Given the description of an element on the screen output the (x, y) to click on. 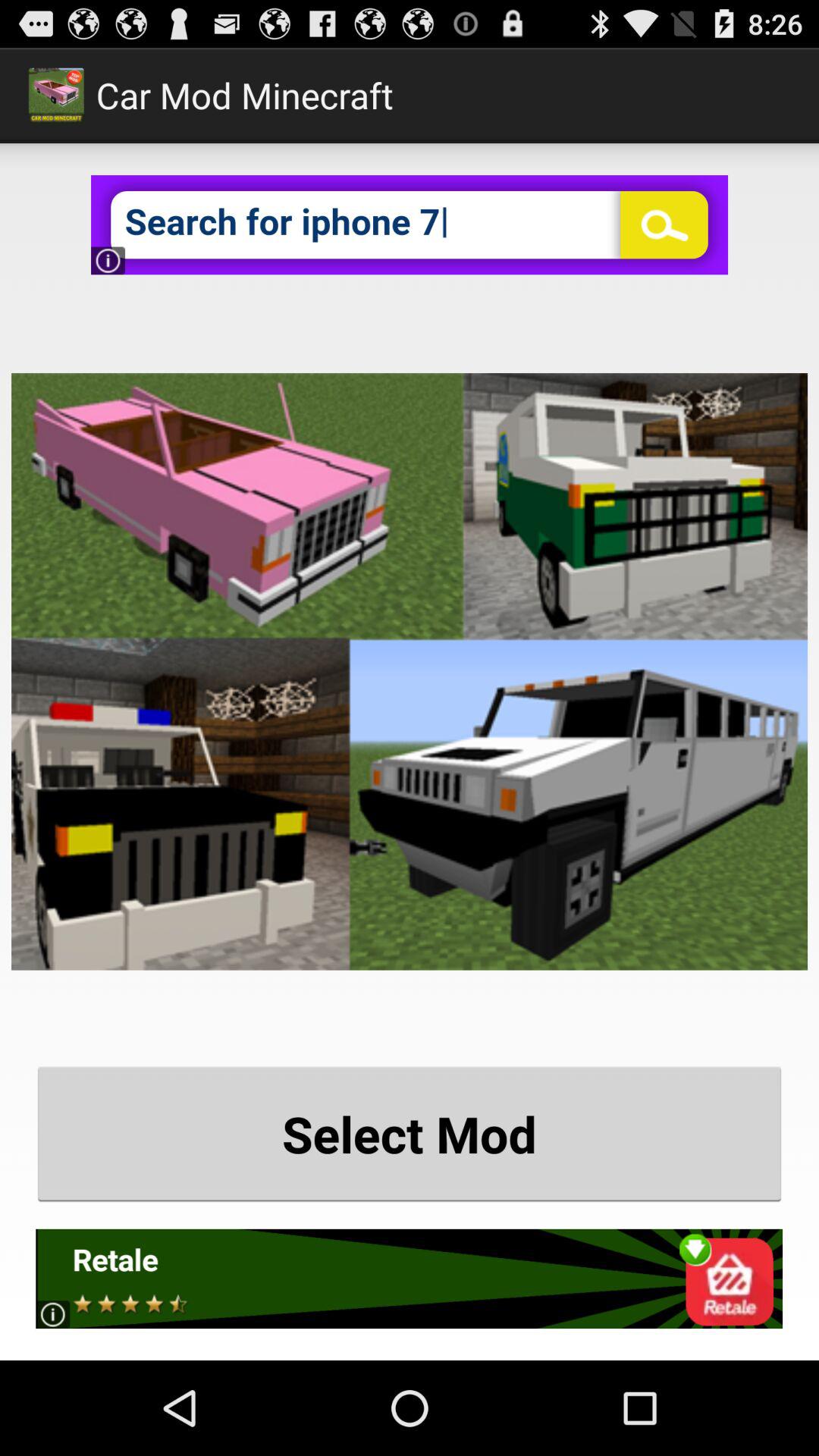
opens up a app in the store (408, 1278)
